Given the description of an element on the screen output the (x, y) to click on. 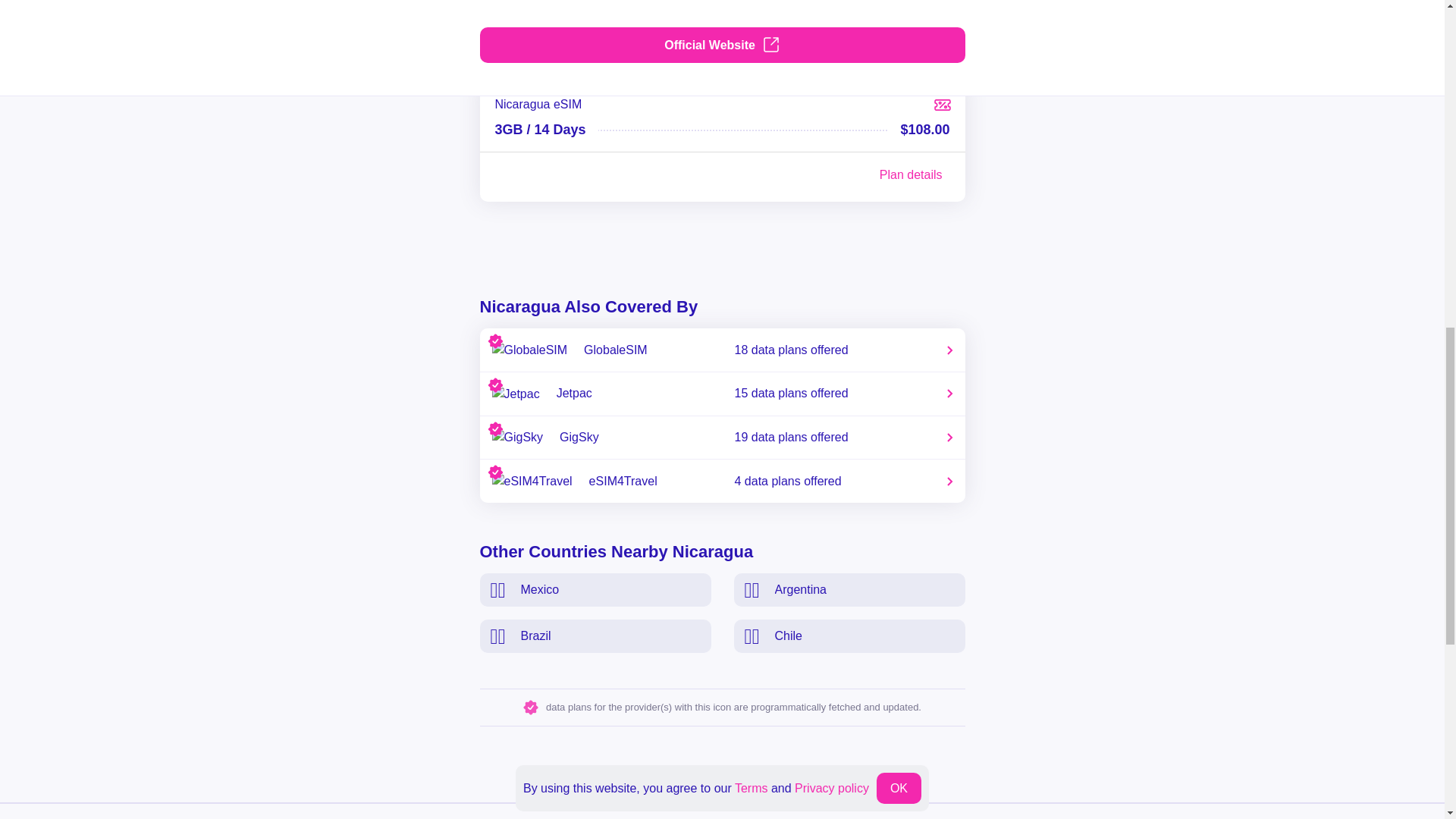
Plan details (721, 350)
Plan details (721, 394)
